Given the description of an element on the screen output the (x, y) to click on. 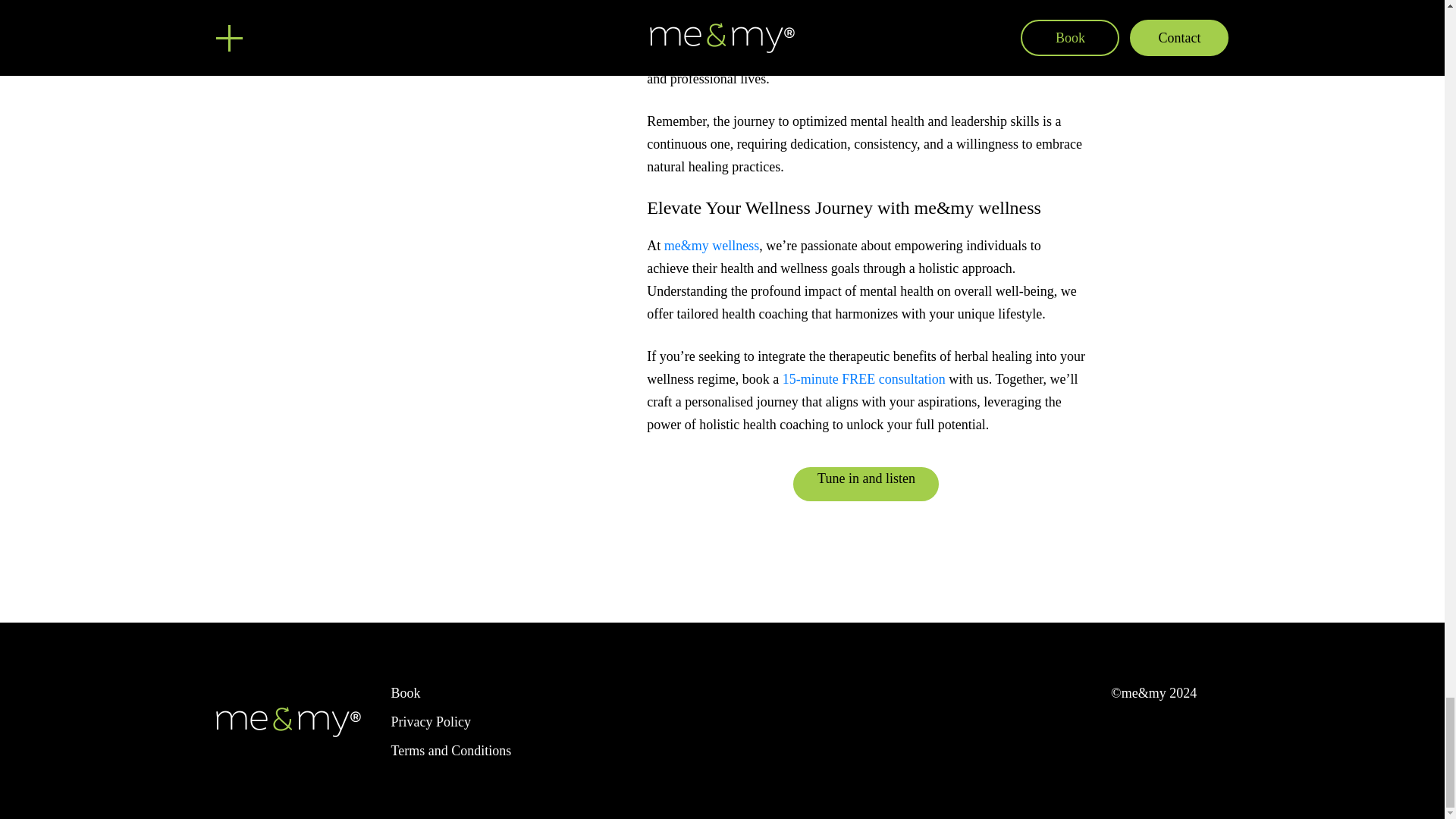
Privacy Policy (431, 721)
Tune in and listen (866, 483)
Terms and Conditions (451, 750)
Book (405, 693)
15-minute FREE consultation (863, 378)
